Given the description of an element on the screen output the (x, y) to click on. 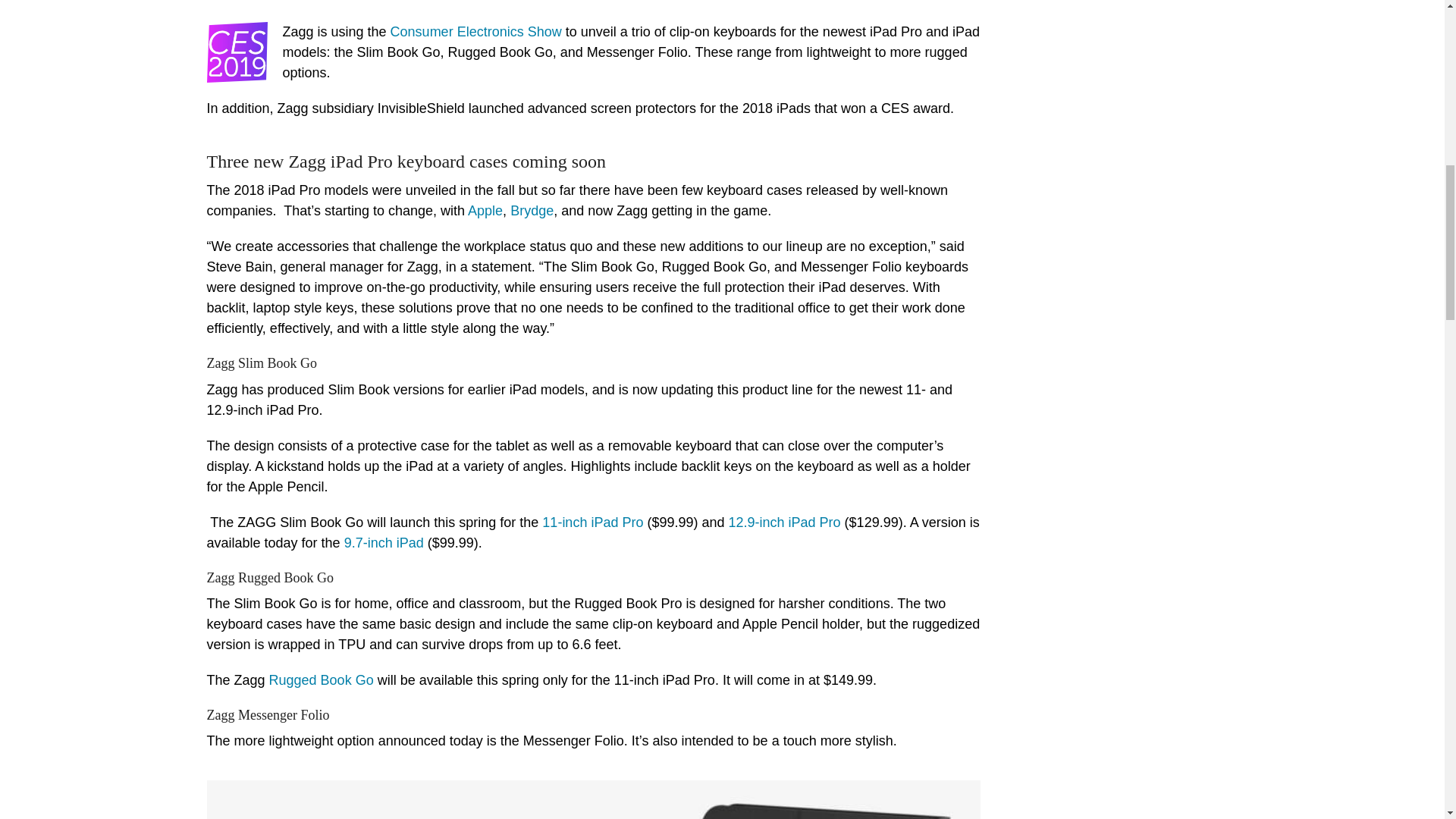
CES 2019 bug (236, 52)
